Given the description of an element on the screen output the (x, y) to click on. 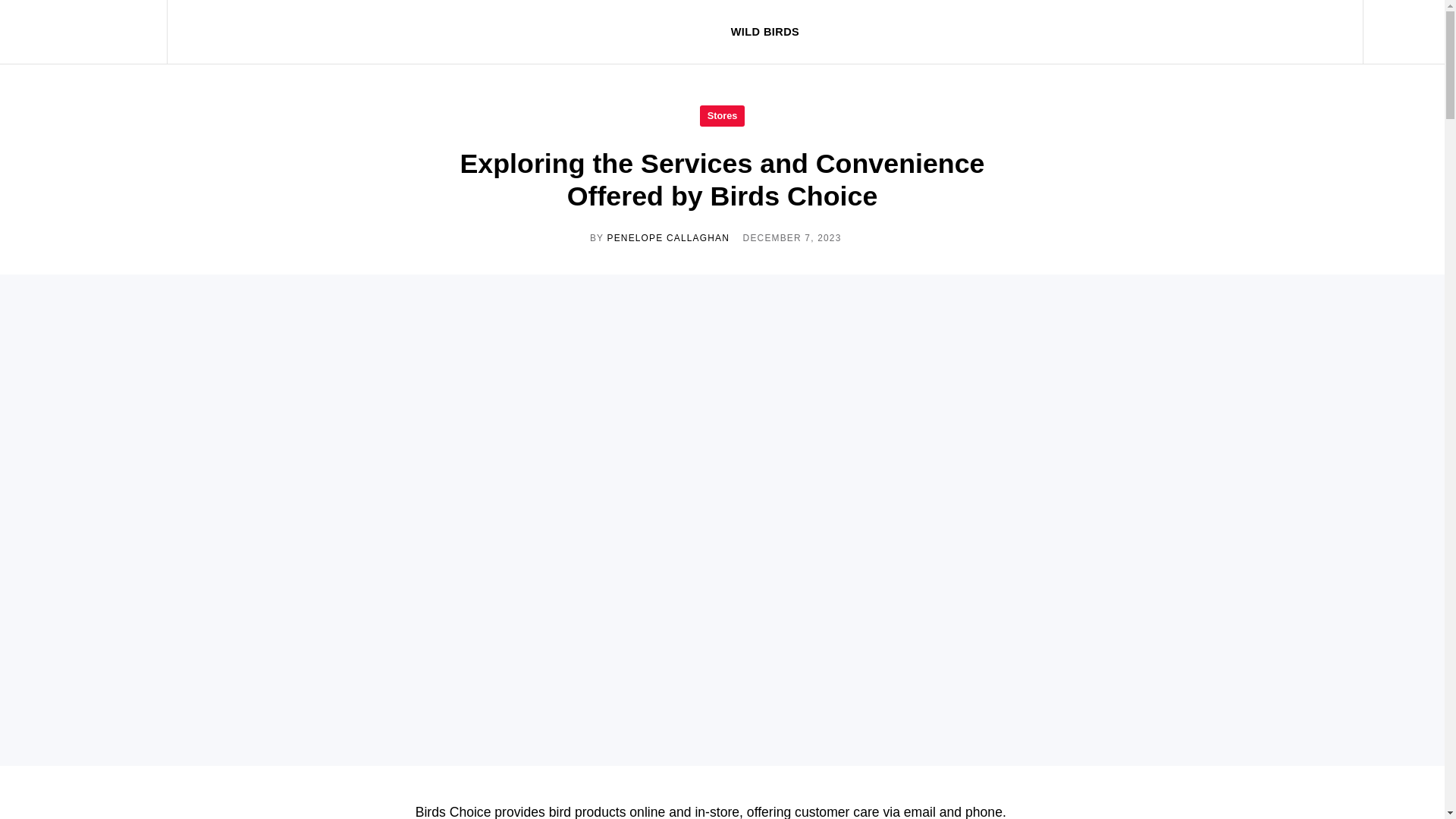
WILD BIRDS (764, 31)
Wild Birds (94, 32)
Stores (722, 115)
PENELOPE CALLAGHAN (668, 237)
